Given the description of an element on the screen output the (x, y) to click on. 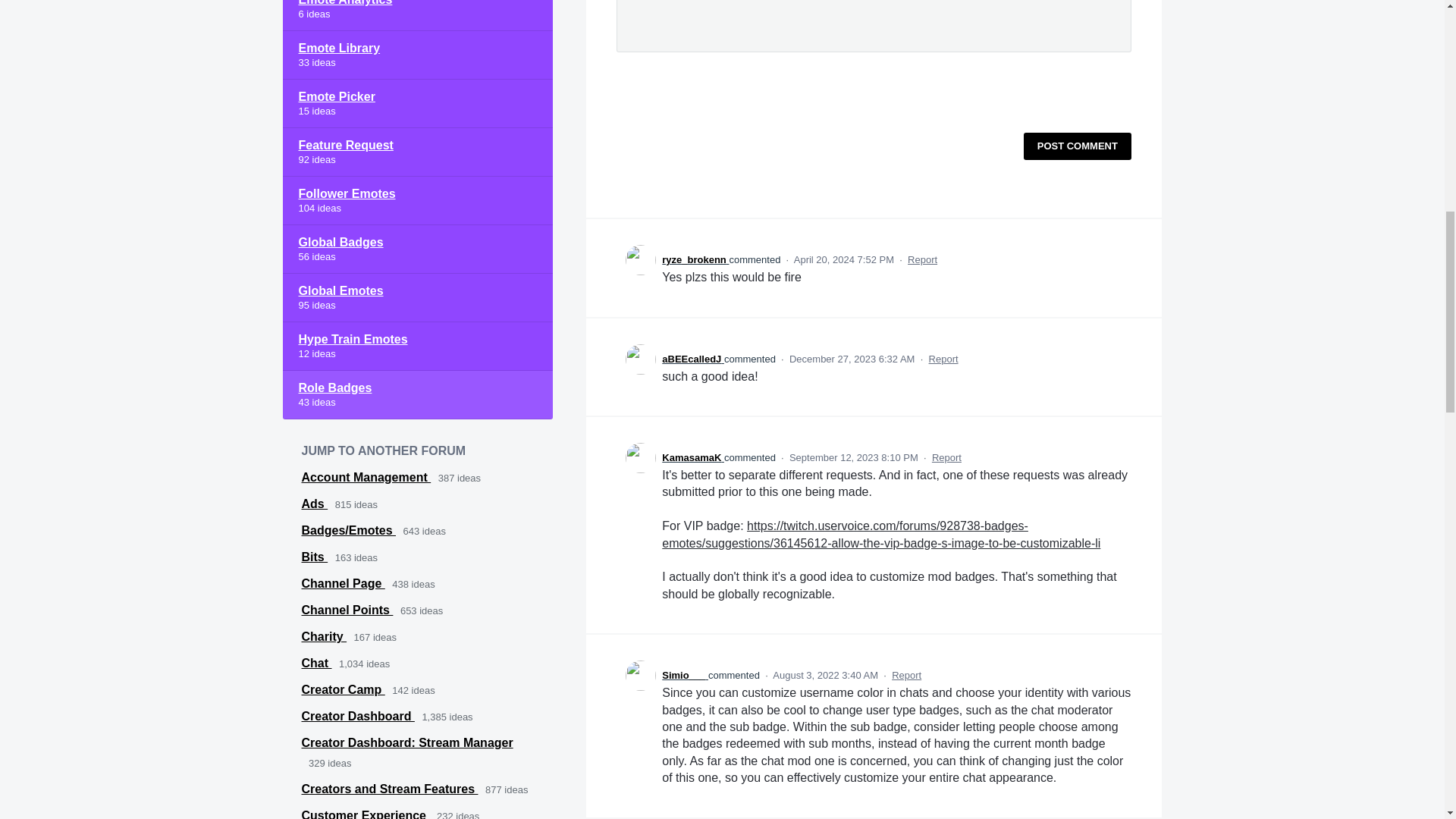
Global Emotes (417, 297)
Emote Picker (417, 103)
View all ideas in category Global Emotes (417, 297)
Channel Points (347, 609)
Creator Camp (343, 689)
Feature Request (417, 151)
Bits (315, 556)
View all ideas in category Hype Train Emotes (417, 346)
Creator Dashboard (357, 716)
Account Management (365, 477)
Charity (324, 635)
Channel Page (343, 583)
Emote Analytics (417, 15)
View all ideas in category Global Badges (417, 249)
Follower Emotes (417, 200)
